Given the description of an element on the screen output the (x, y) to click on. 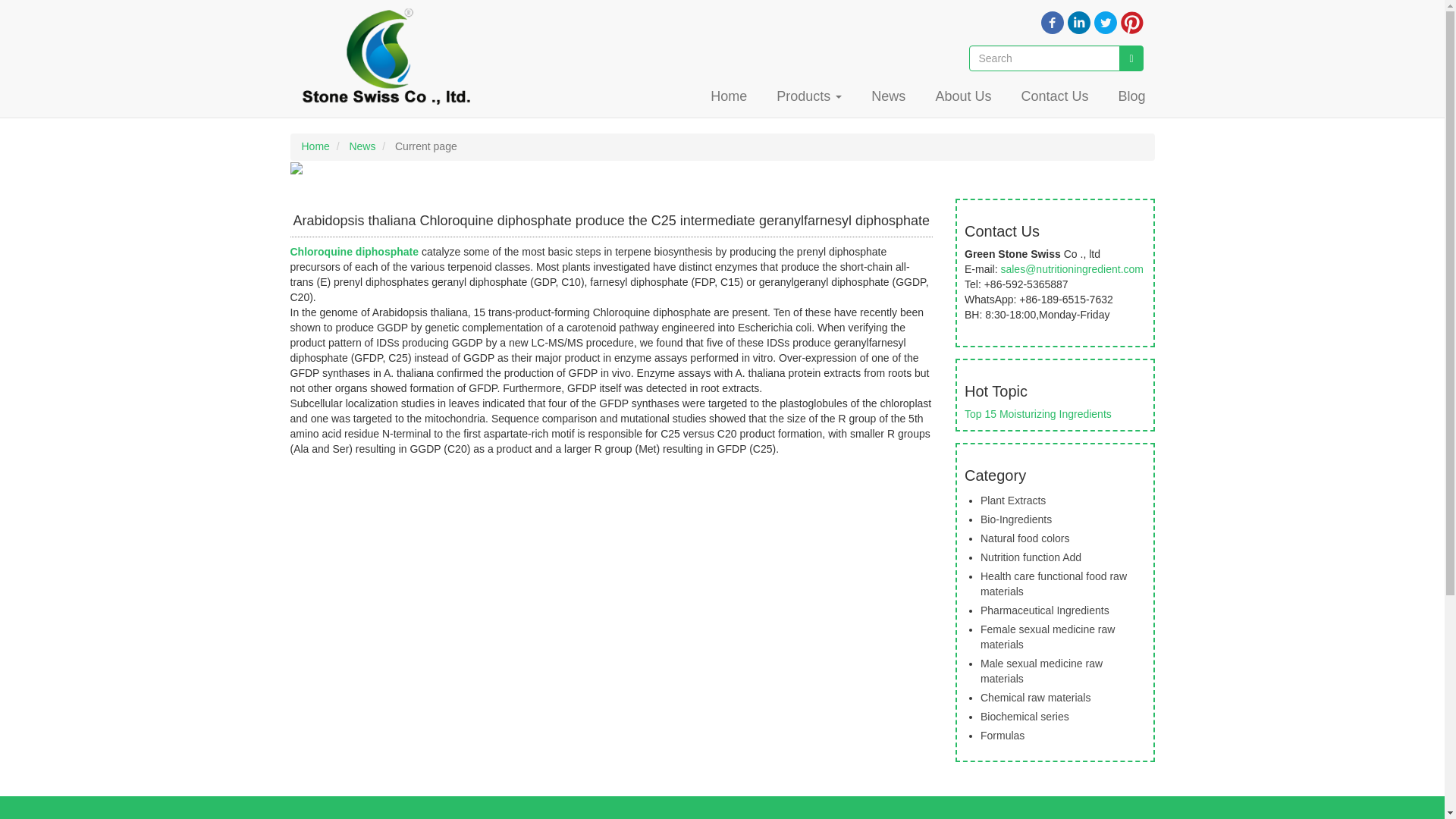
News (887, 96)
Contact Us (1054, 96)
News (362, 146)
Twitter (1104, 21)
Female sexual medicine raw materials (1047, 636)
Nutrition function Add (1030, 557)
Home (389, 54)
Products (808, 96)
Chloroquine diphosphate (354, 251)
Natural food colors (1024, 538)
Pharmaceutical Ingredients (1044, 610)
Blog (1131, 96)
Home (315, 146)
Chemical raw materials (1034, 697)
Search (1130, 58)
